Given the description of an element on the screen output the (x, y) to click on. 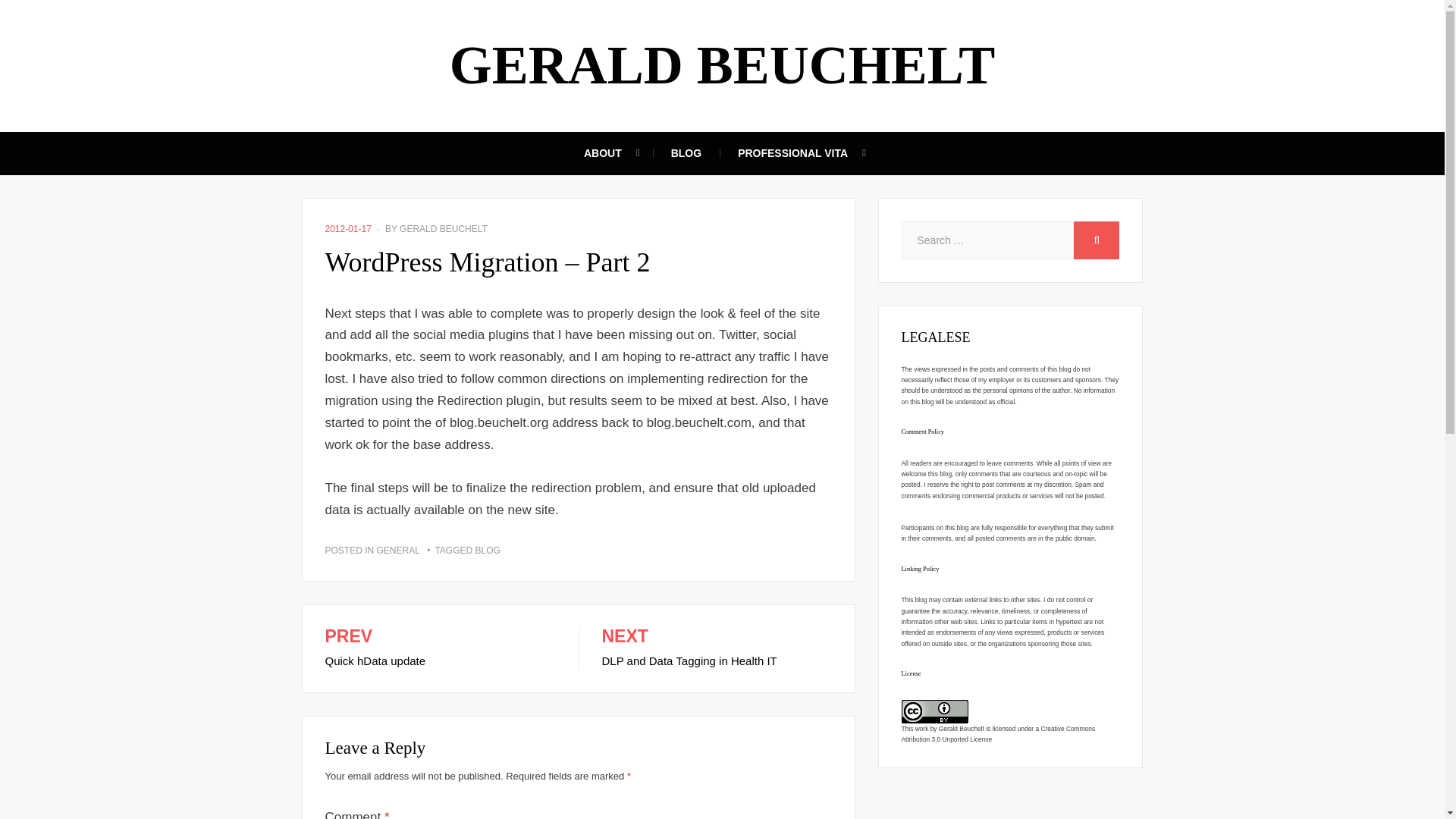
Search for: (987, 240)
Gerald Beuchelt (961, 728)
BLOG (685, 153)
GERALD BEUCHELT (722, 65)
2012-01-17 (716, 649)
SEARCH (347, 228)
BLOG (1096, 240)
Creative Commons Attribution 3.0 Unported License (488, 550)
PROFESSIONAL VITA (997, 733)
